Given the description of an element on the screen output the (x, y) to click on. 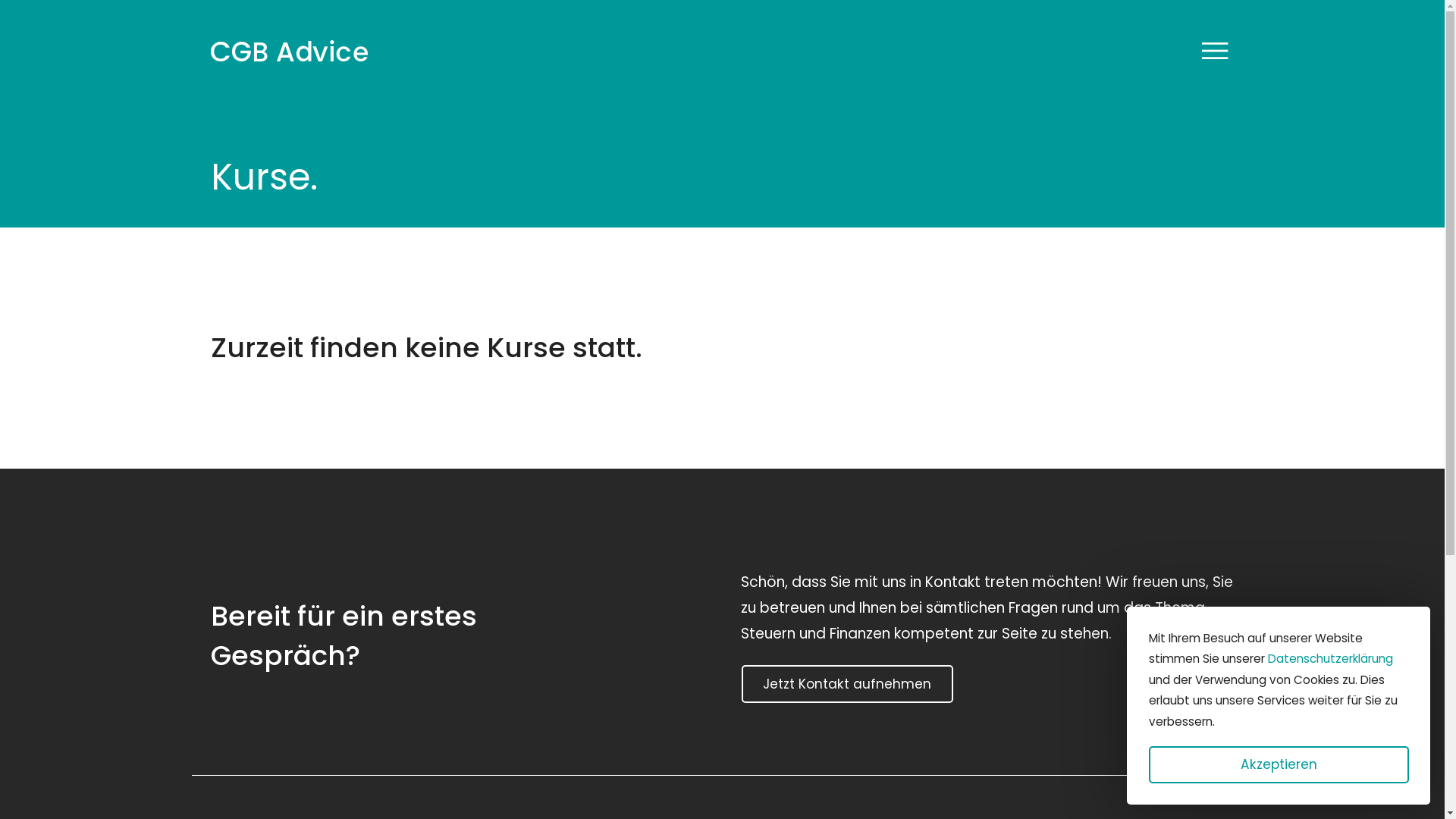
Jetzt Kontakt aufnehmen Element type: text (847, 683)
